Given the description of an element on the screen output the (x, y) to click on. 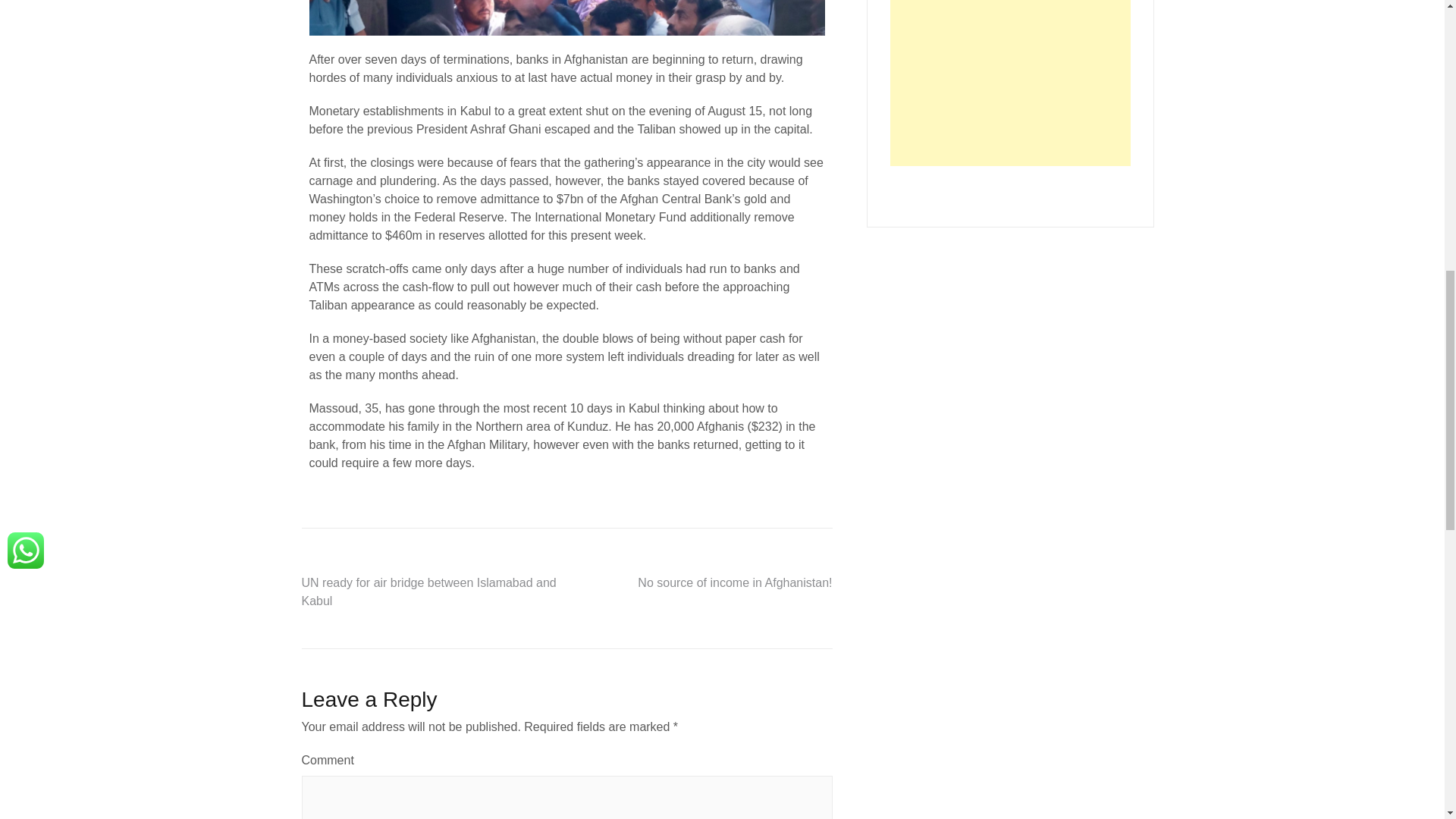
UN ready for air bridge between Islamabad and Kabul (428, 591)
No source of income in Afghanistan! (734, 582)
Advertisement (1010, 83)
